Given the description of an element on the screen output the (x, y) to click on. 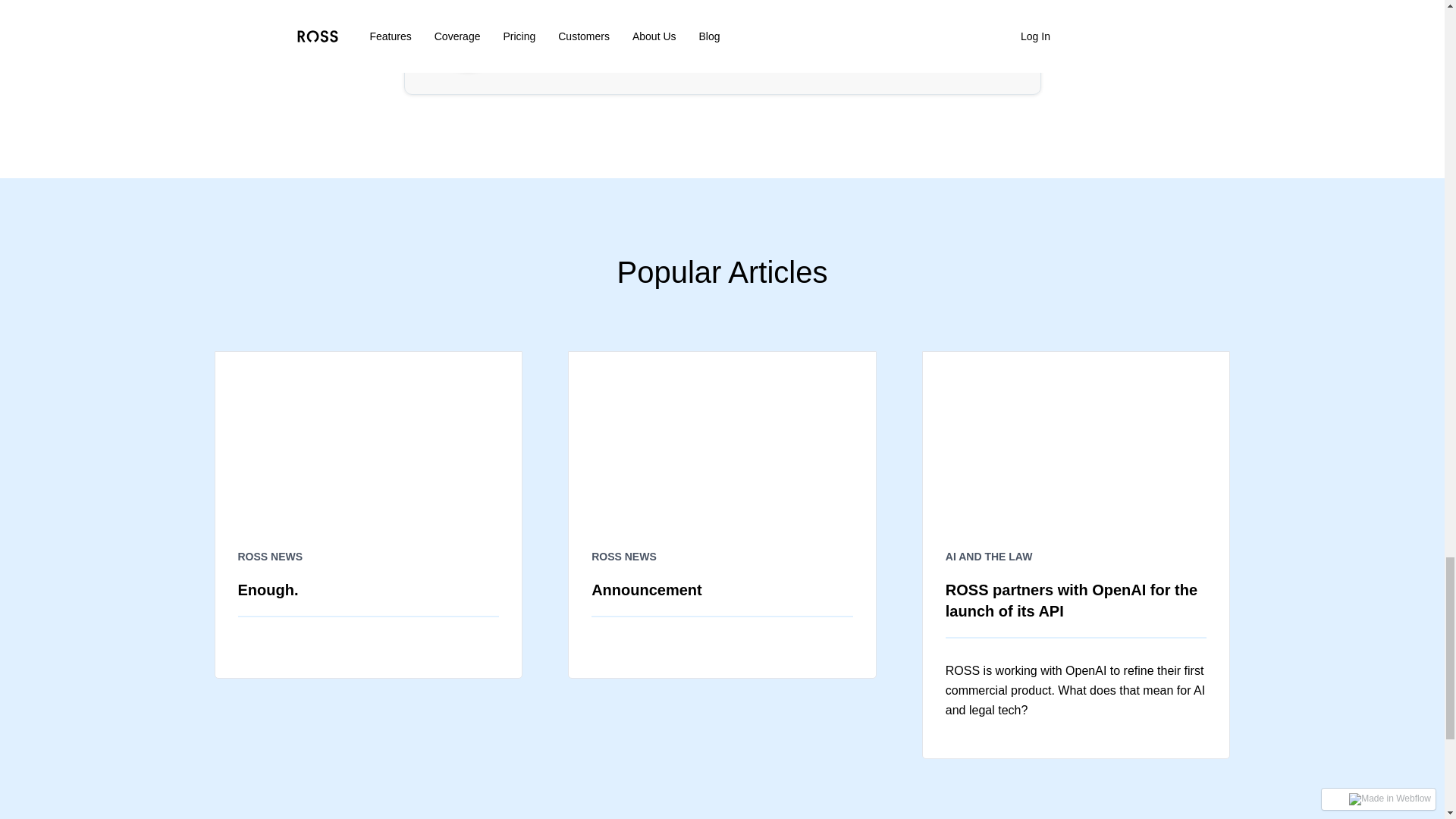
ROSS NEWS (368, 556)
Enough. (368, 589)
ROSS NEWS (722, 556)
